Given the description of an element on the screen output the (x, y) to click on. 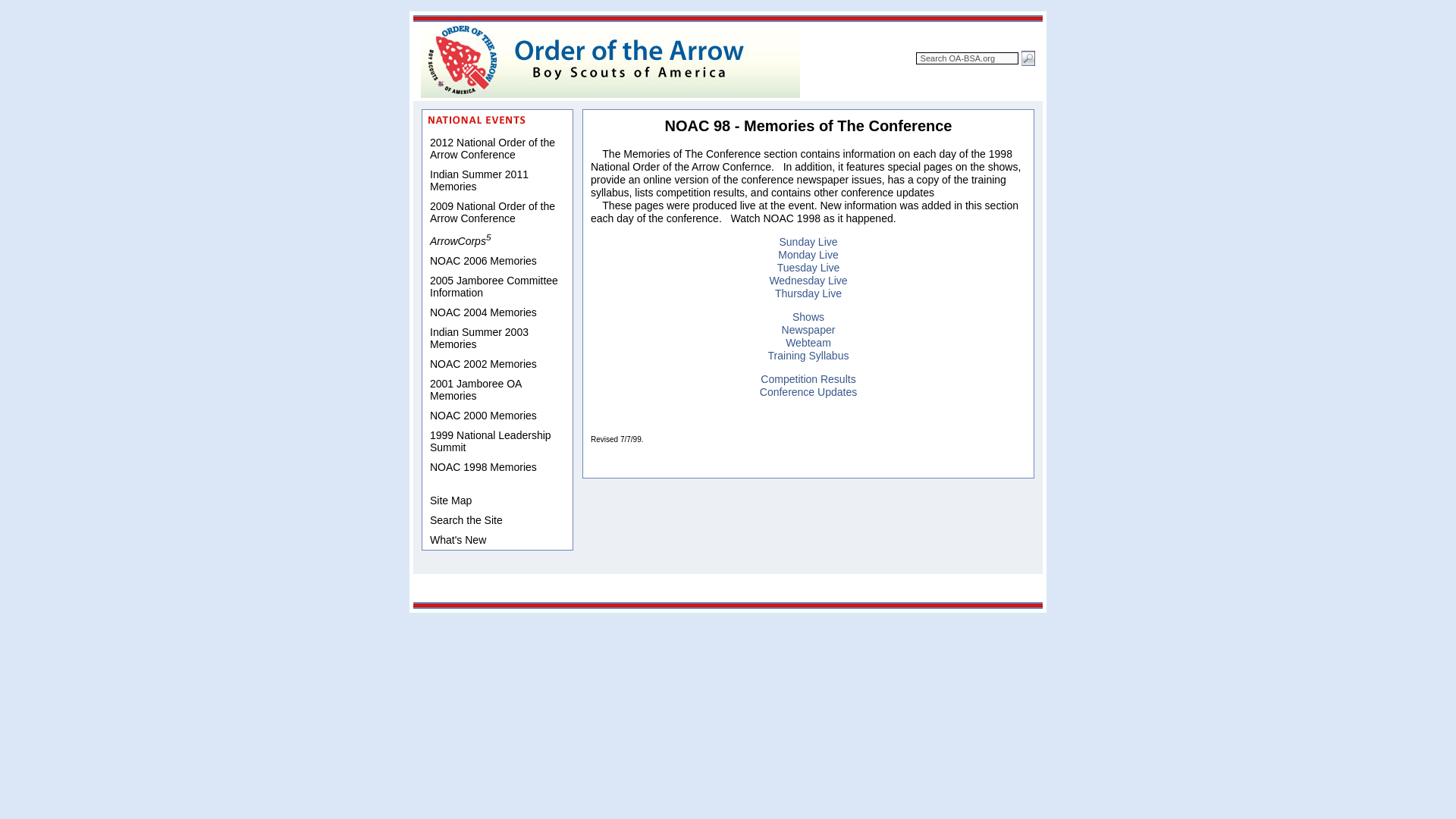
2012 National Order of the Arrow Conference (497, 148)
Shows (808, 316)
Sunday Live (807, 241)
Thursday Live (807, 293)
Newspaper (808, 329)
Indian Summer 2003 Memories (497, 337)
NOAC 1998 Memories (497, 466)
Monday Live (807, 254)
1999 National Leadership Summit (497, 441)
ArrowCorps5 (497, 239)
Wednesday Live (807, 280)
Webteam (808, 342)
2009 National Order of the Arrow Conference (497, 212)
NOAC 2004 Memories (497, 312)
NOAC 2000 Memories (497, 415)
